Given the description of an element on the screen output the (x, y) to click on. 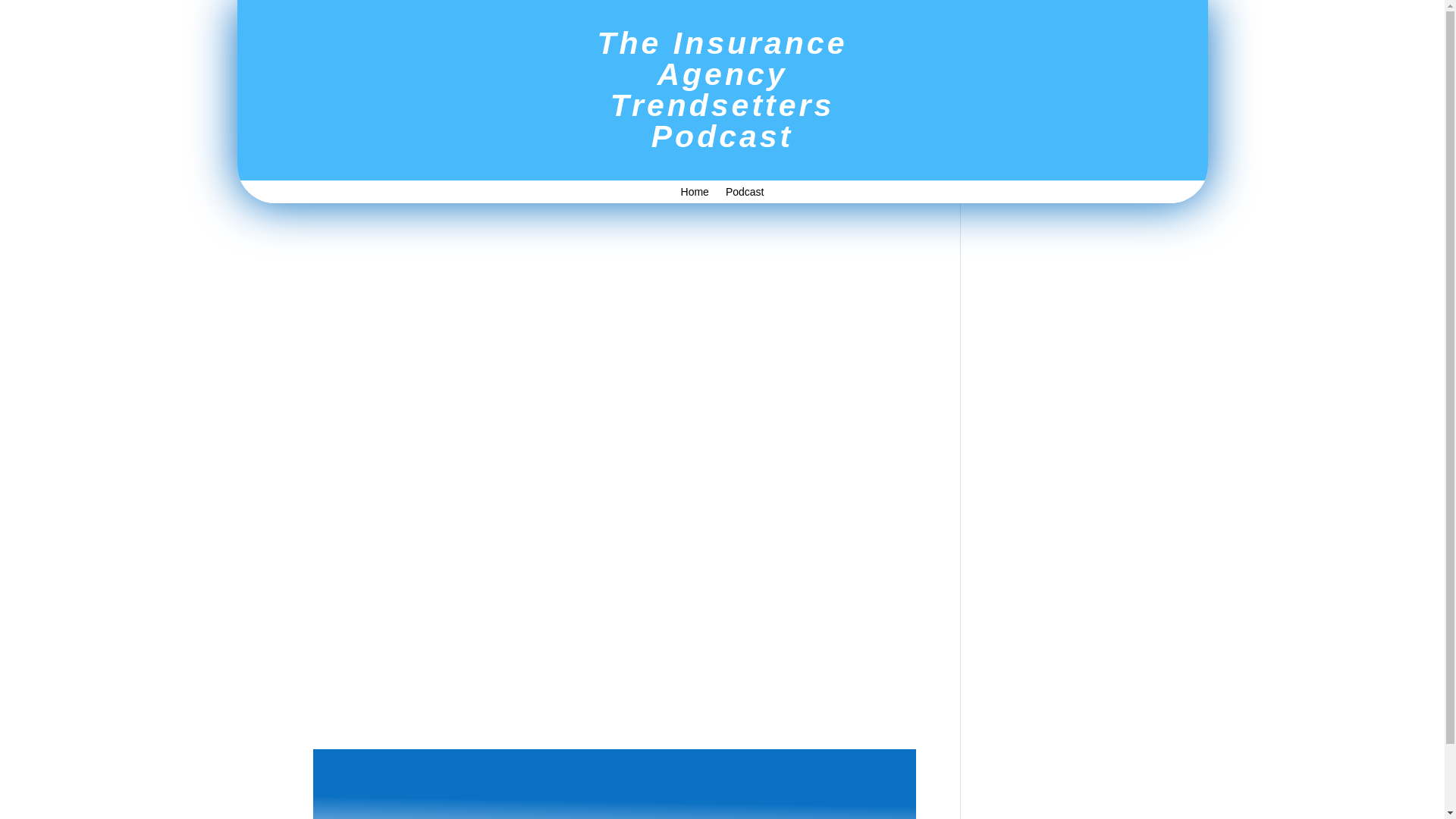
Podcast (551, 105)
Home (695, 194)
Podcast (744, 194)
